Given the description of an element on the screen output the (x, y) to click on. 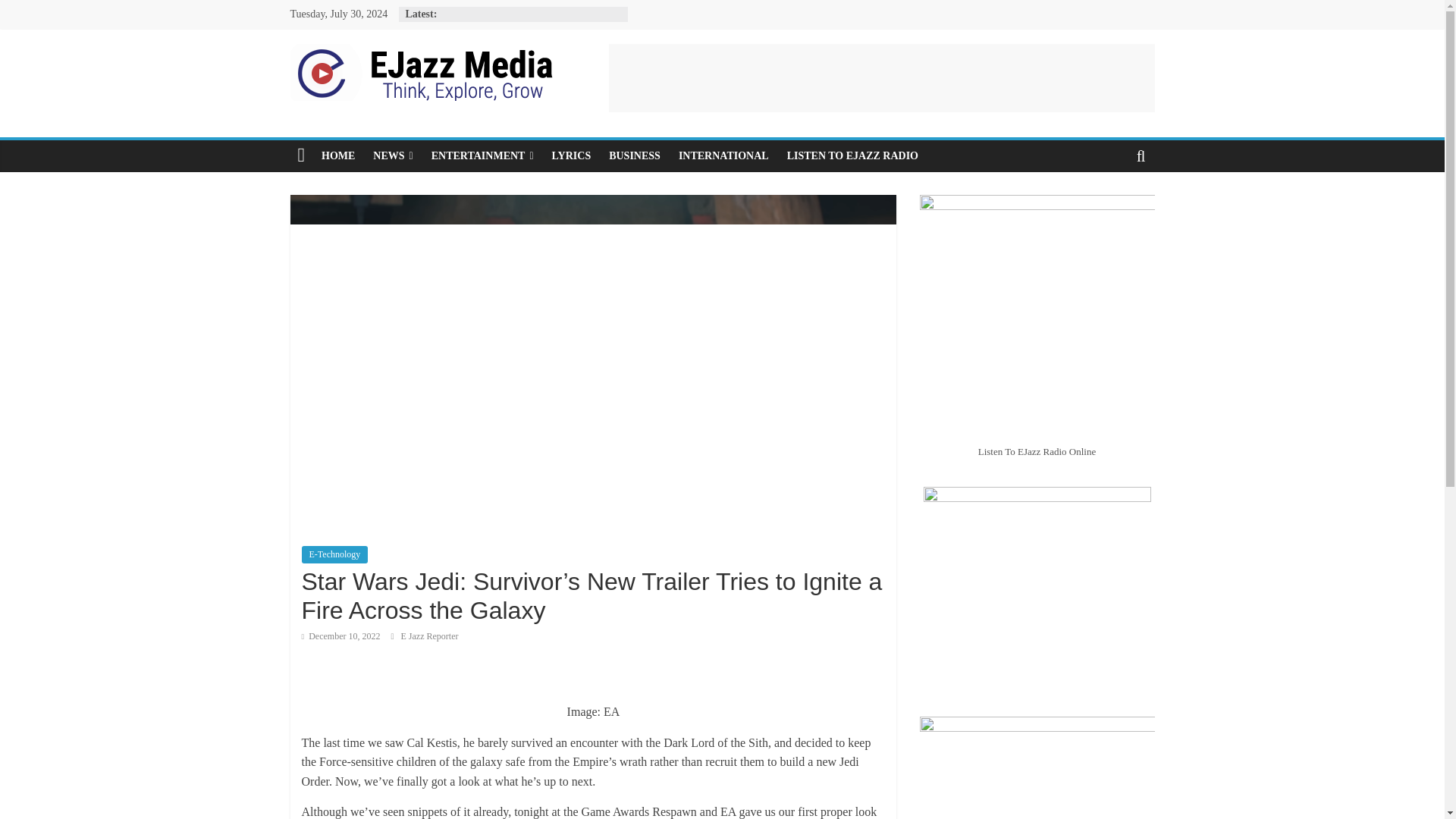
INTERNATIONAL (723, 155)
ENTERTAINMENT (482, 155)
E Jazz Reporter (429, 635)
E Jazz Reporter (429, 635)
NEWS (393, 155)
E-Technology (334, 554)
December 10, 2022 (340, 635)
LISTEN TO EJAZZ RADIO (852, 155)
1:47 am (340, 635)
HOME (338, 155)
LYRICS (571, 155)
BUSINESS (634, 155)
